Given the description of an element on the screen output the (x, y) to click on. 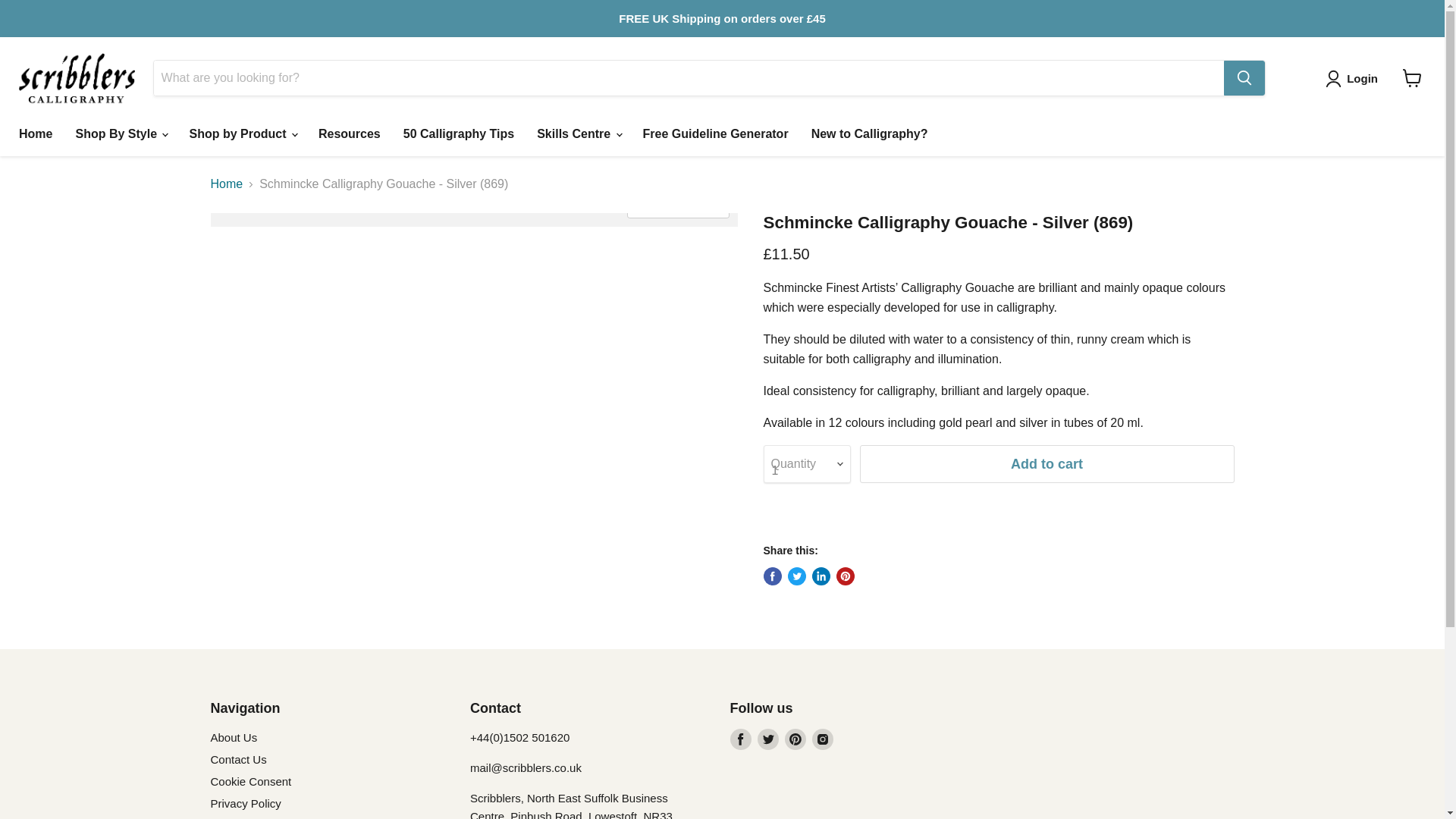
Home (35, 133)
Twitter (767, 739)
Login (1362, 78)
View cart (1411, 78)
Pinterest (794, 739)
Facebook (740, 739)
Instagram (821, 739)
